Given the description of an element on the screen output the (x, y) to click on. 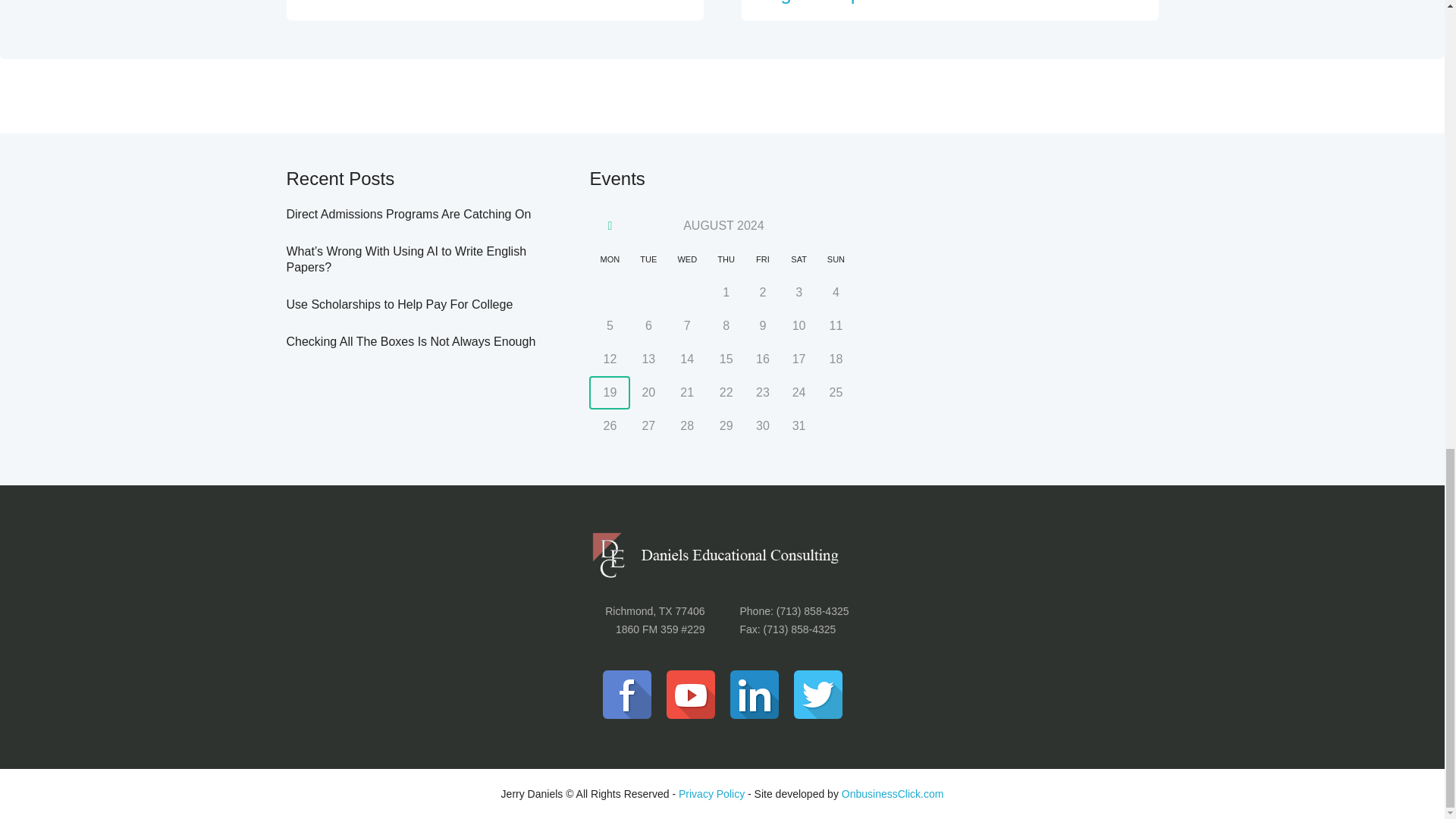
Sunday (835, 259)
Tuesday (648, 259)
View posts for July 2024 (609, 226)
Direct Admissions Programs Are Catching On (408, 214)
Wednesday (686, 259)
Direct Admissions Programs Are Catching On (484, 2)
Thursday (725, 259)
Friday (762, 259)
Monday (609, 259)
Saturday (798, 259)
